Given the description of an element on the screen output the (x, y) to click on. 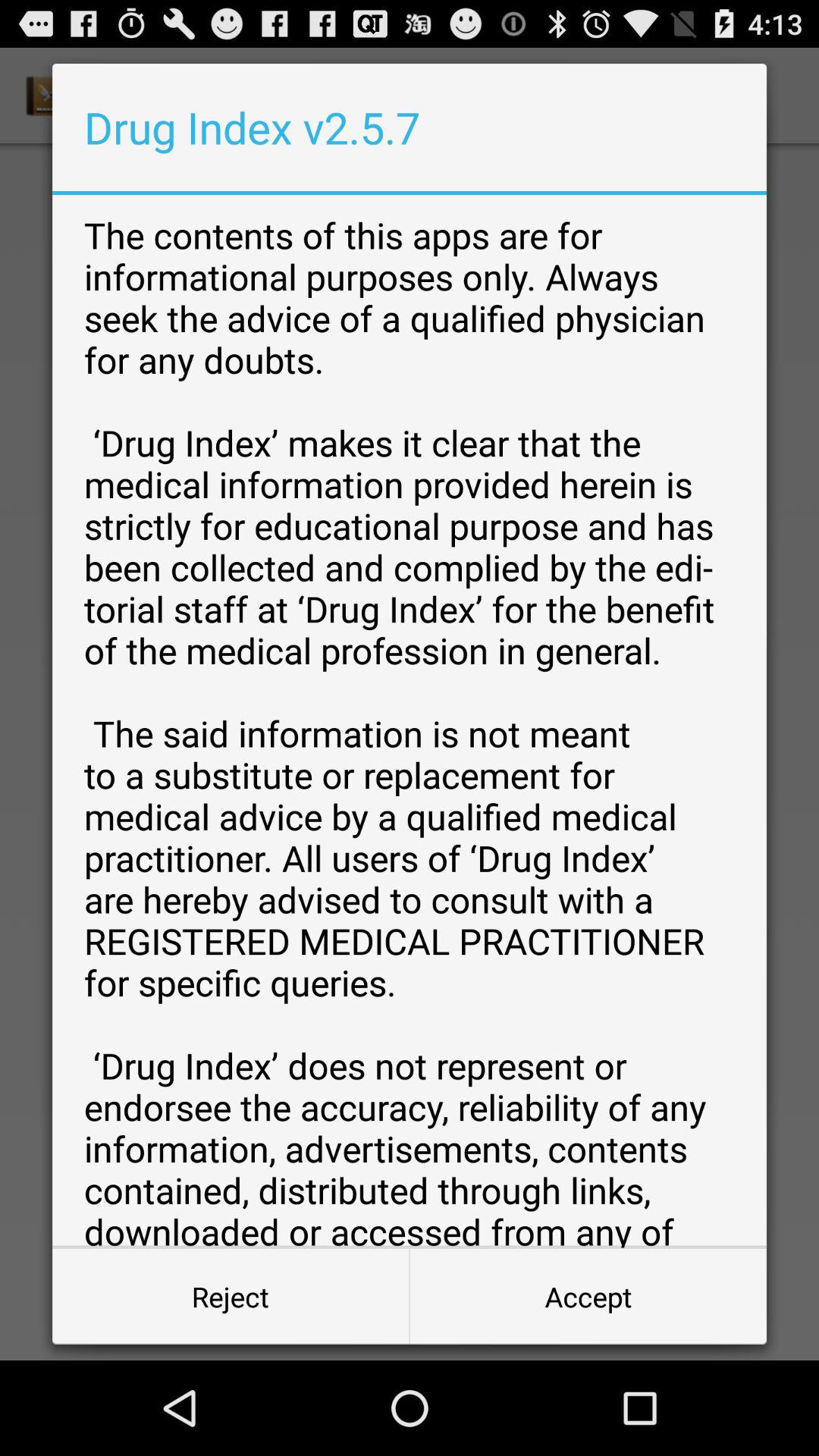
launch the item to the left of the accept item (230, 1296)
